Given the description of an element on the screen output the (x, y) to click on. 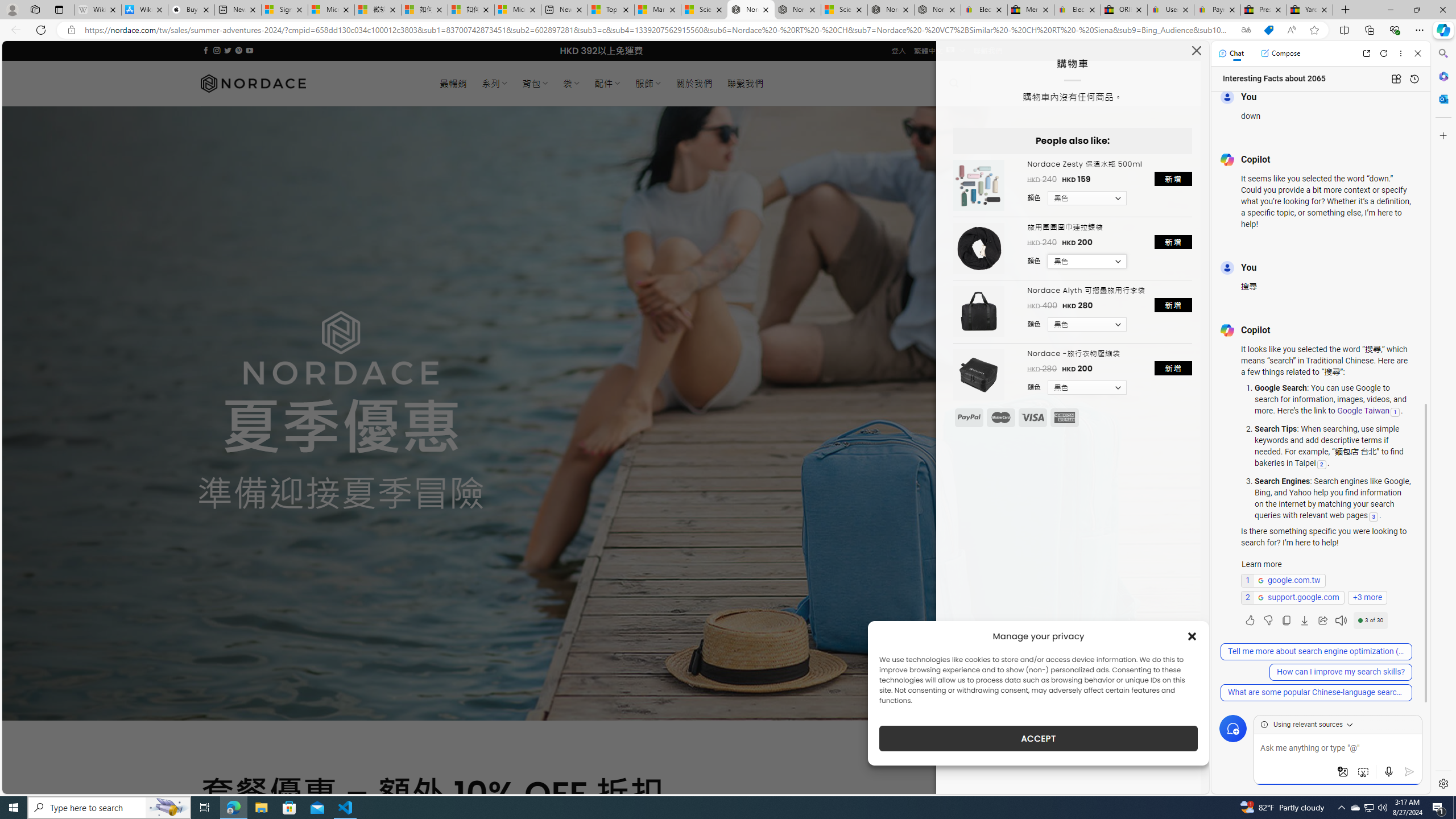
Chat (1231, 52)
Top Stories - MSN (610, 9)
Class: cmplz-close (1192, 636)
Follow on Twitter (227, 50)
Buy iPad - Apple (191, 9)
Nordace - Summer Adventures 2024 (890, 9)
